Given the description of an element on the screen output the (x, y) to click on. 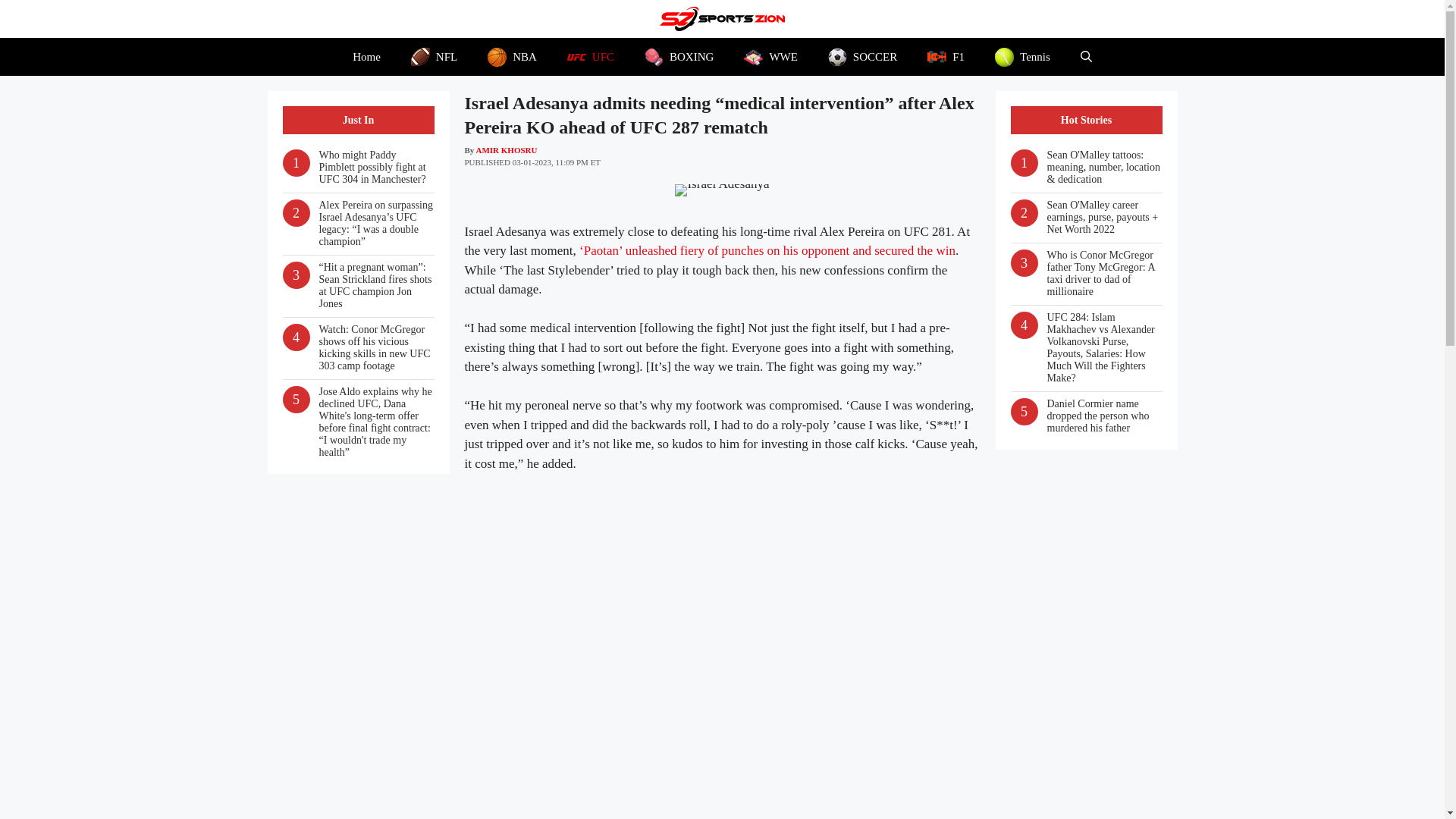
NBA (511, 56)
NFL (433, 56)
WWE (770, 56)
Home (366, 56)
SOCCER (862, 56)
BOXING (678, 56)
UFC (589, 56)
F1 (945, 56)
